Given the description of an element on the screen output the (x, y) to click on. 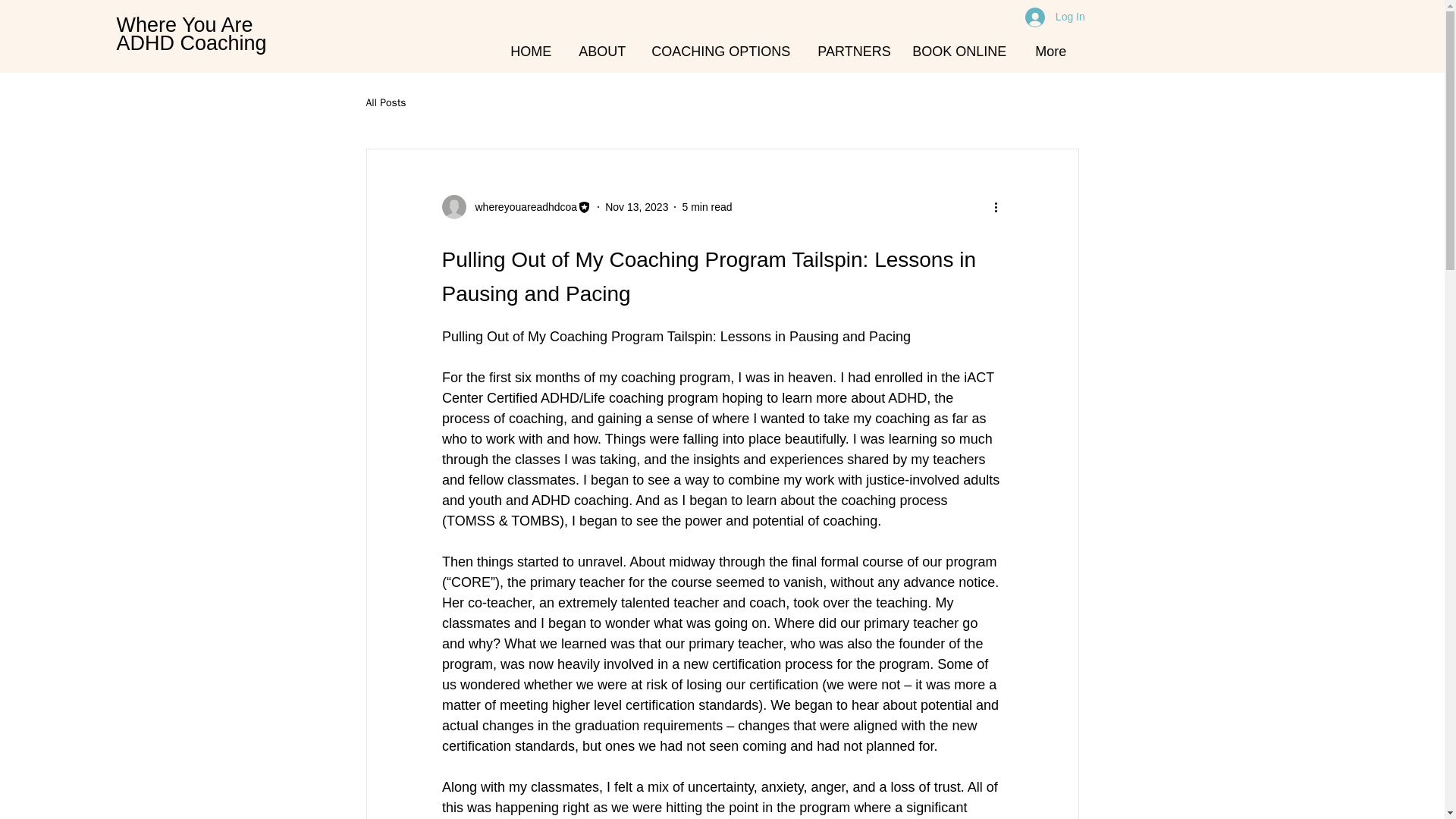
Log In (1046, 17)
whereyouareadhdcoa (520, 206)
HOME (530, 44)
COACHING OPTIONS (720, 44)
All Posts (385, 102)
5 min read (706, 205)
BOOK ONLINE (191, 33)
Nov 13, 2023 (959, 44)
whereyouareadhdcoa (636, 205)
